Given the description of an element on the screen output the (x, y) to click on. 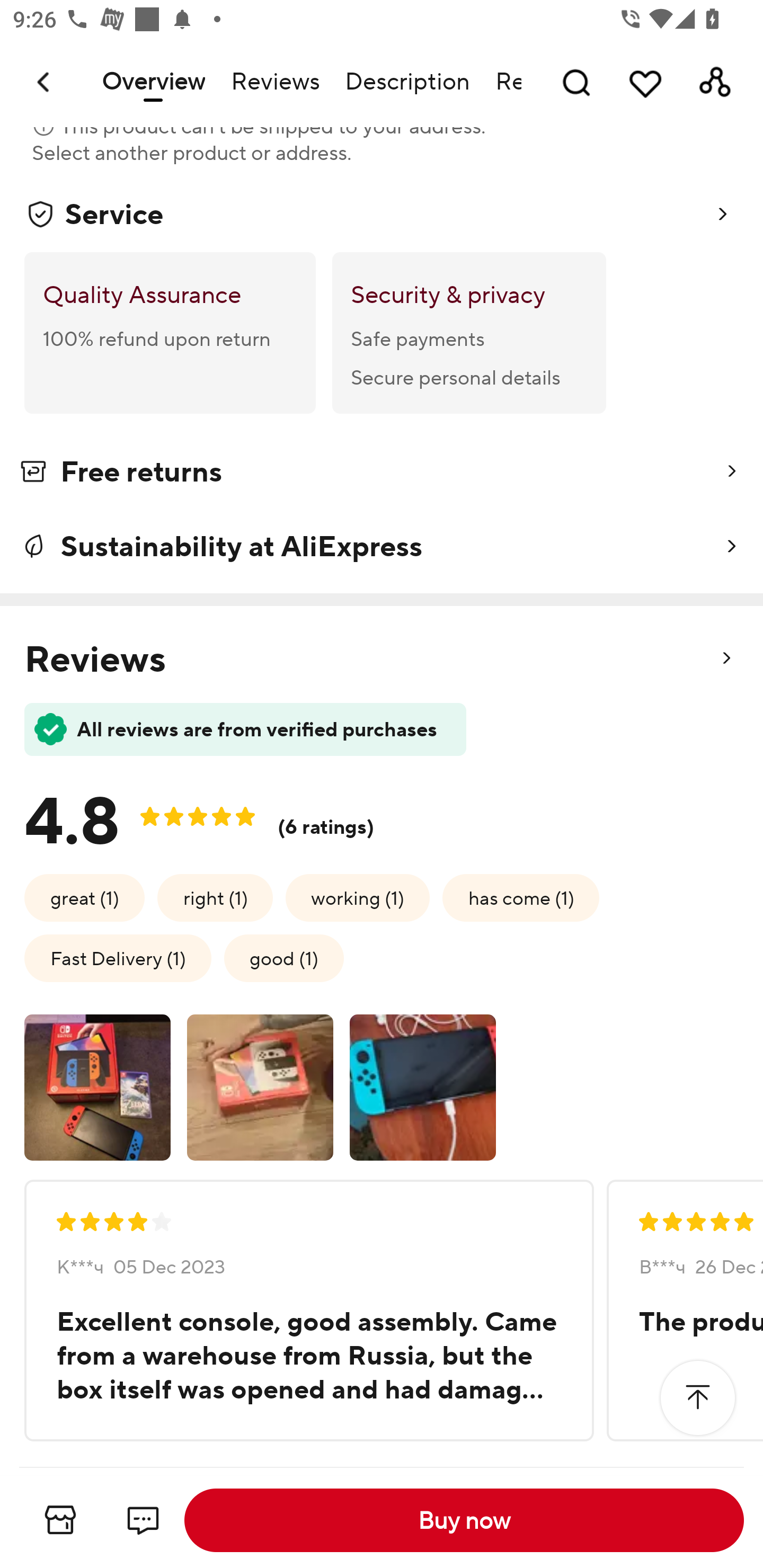
Navigate up (44, 82)
Reviews (274, 81)
Description (406, 81)
Free returns  (381, 475)
Sustainability at AliExpress  (381, 546)
4.8 48.0 (6 ratings) (213, 815)
great (1) (84, 897)
right (1) (215, 897)
working (1) (357, 897)
has come (1) (520, 897)
Fast Delivery (1) (117, 957)
good (1) (284, 957)
 (697, 1397)
Buy now (463, 1520)
